Given the description of an element on the screen output the (x, y) to click on. 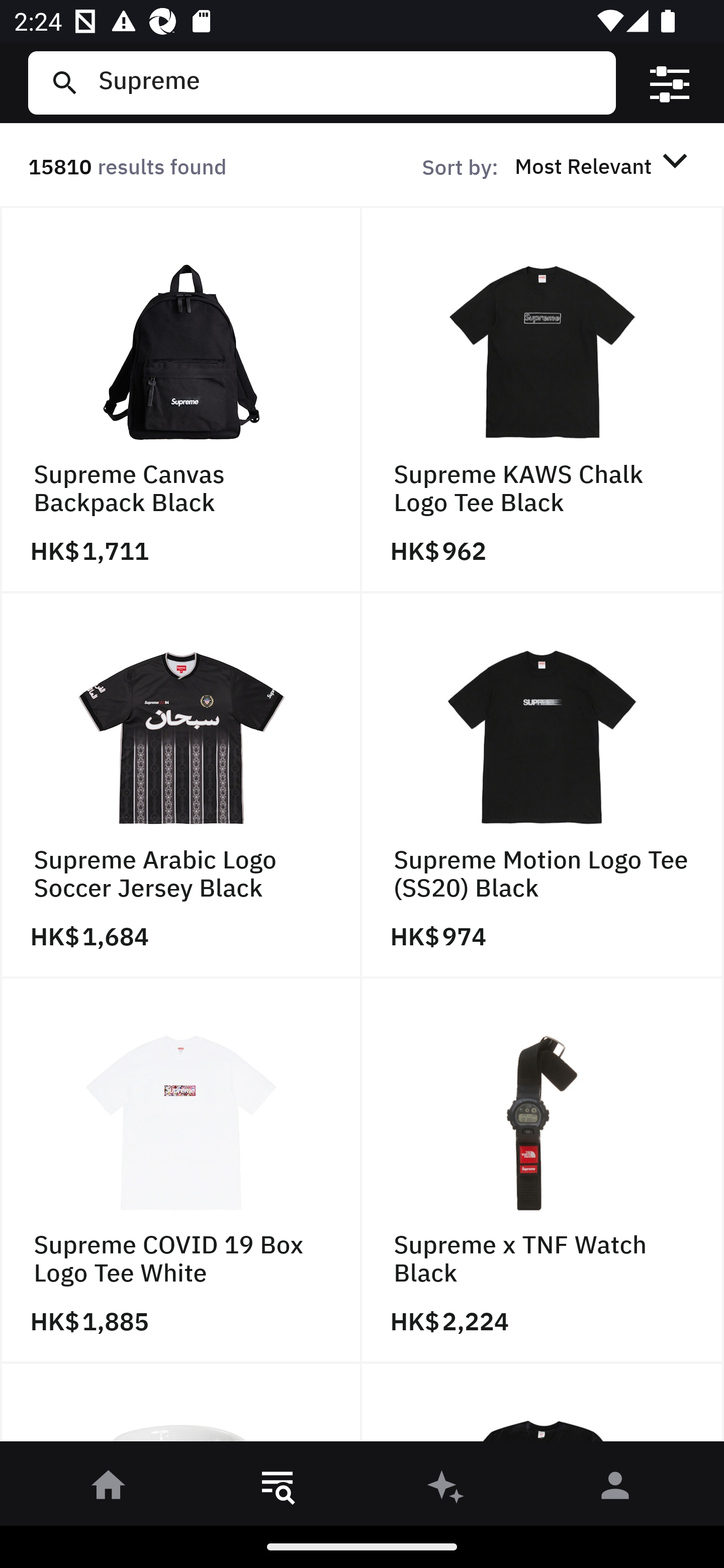
Supreme (349, 82)
 (669, 82)
Most Relevant  (604, 165)
Supreme Canvas Backpack Black HK$ 1,711 (181, 399)
Supreme KAWS Chalk Logo Tee Black HK$ 962 (543, 399)
Supreme Arabic Logo Soccer Jersey Black HK$ 1,684 (181, 785)
Supreme Motion Logo Tee (SS20) Black HK$ 974 (543, 785)
Supreme COVID 19 Box Logo Tee White HK$ 1,885 (181, 1171)
Supreme x TNF Watch Black HK$ 2,224 (543, 1171)
󰋜 (108, 1488)
󱎸 (277, 1488)
󰫢 (446, 1488)
󰀄 (615, 1488)
